Given the description of an element on the screen output the (x, y) to click on. 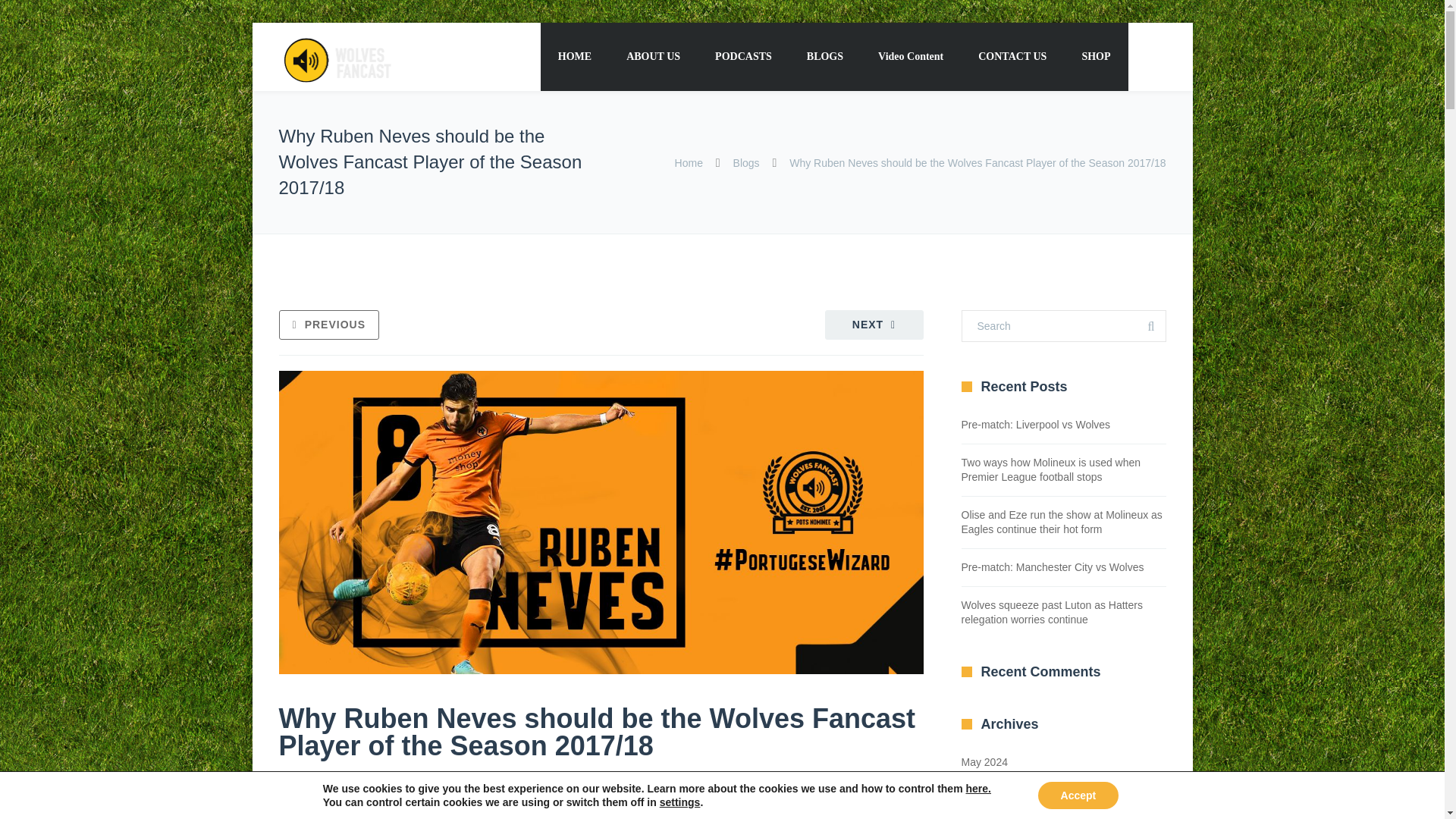
Home (689, 162)
Wolves Fancast (336, 57)
BLOGS (824, 56)
Craig Talbot (318, 779)
0 comment (501, 779)
CONTACT US (1012, 56)
ABOUT US (652, 56)
HOME (574, 56)
SHOP (1095, 56)
NEXT (874, 324)
0  (642, 779)
PREVIOUS (328, 324)
Video Content (910, 56)
Craig Talbot (426, 779)
Posts by Craig Talbot (318, 779)
